Given the description of an element on the screen output the (x, y) to click on. 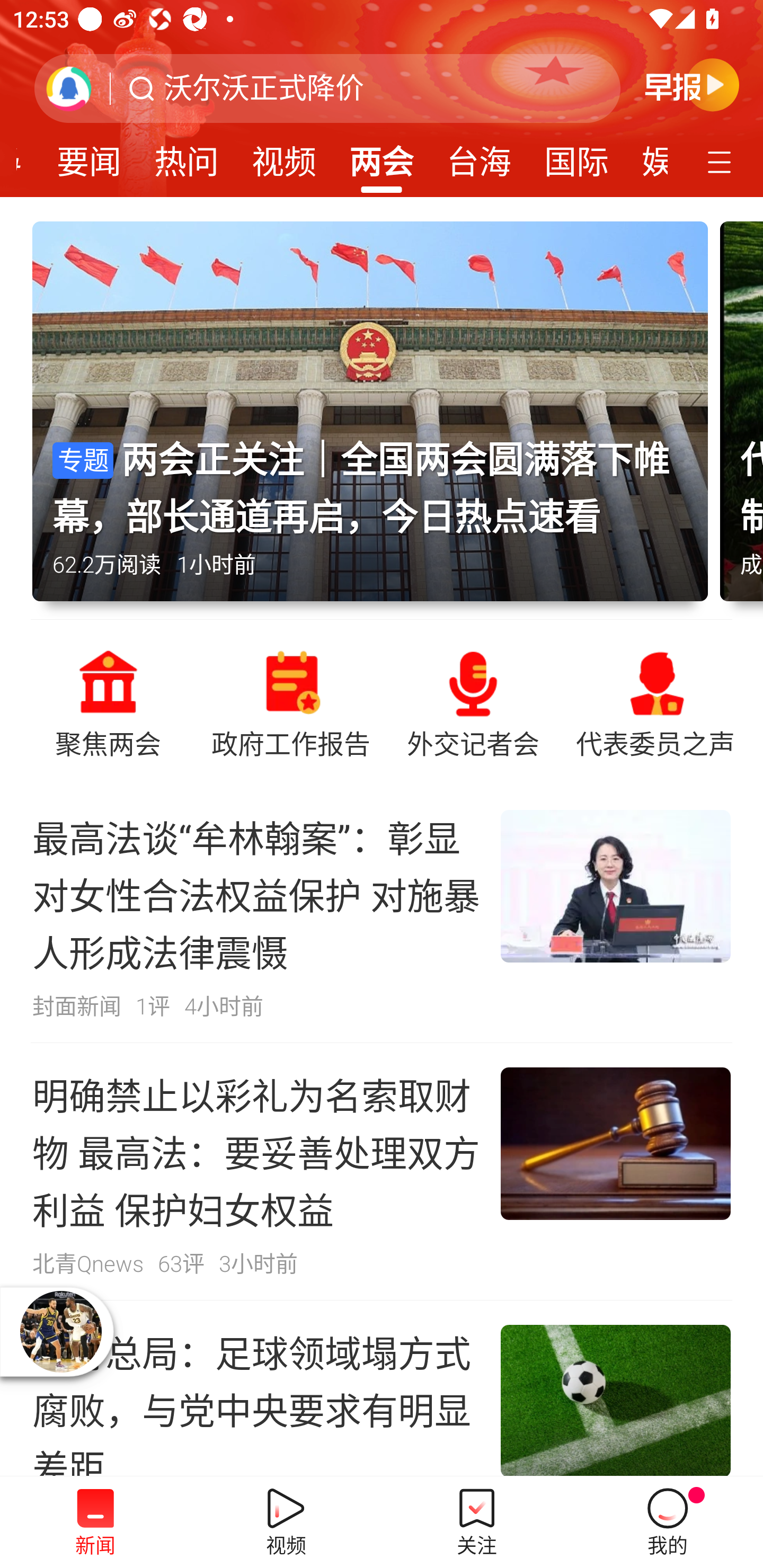
早晚报 (691, 84)
刷新 (68, 88)
沃尔沃正式降价 (263, 88)
要闻 (89, 155)
热问 (186, 155)
视频 (283, 155)
两会 (381, 155)
台海 (478, 155)
国际 (575, 155)
 定制频道 (721, 160)
专题两会正关注｜全国两会圆满落下帷幕，部长通道再启，今日热点速看 62.2万阅读   1小时前 (376, 420)
聚焦两会 (107, 702)
政府工作报告 (290, 702)
外交记者会 (473, 702)
代表委员之声 (655, 702)
最高法谈“牟林翰案”：彰显对女性合法权益保护 对施暴人形成法律震慑 封面新闻 1评 4小时前 (381, 913)
播放器 (60, 1331)
体育总局：足球领域塌方式腐败，与党中央要求有明显差距 (381, 1388)
